Given the description of an element on the screen output the (x, y) to click on. 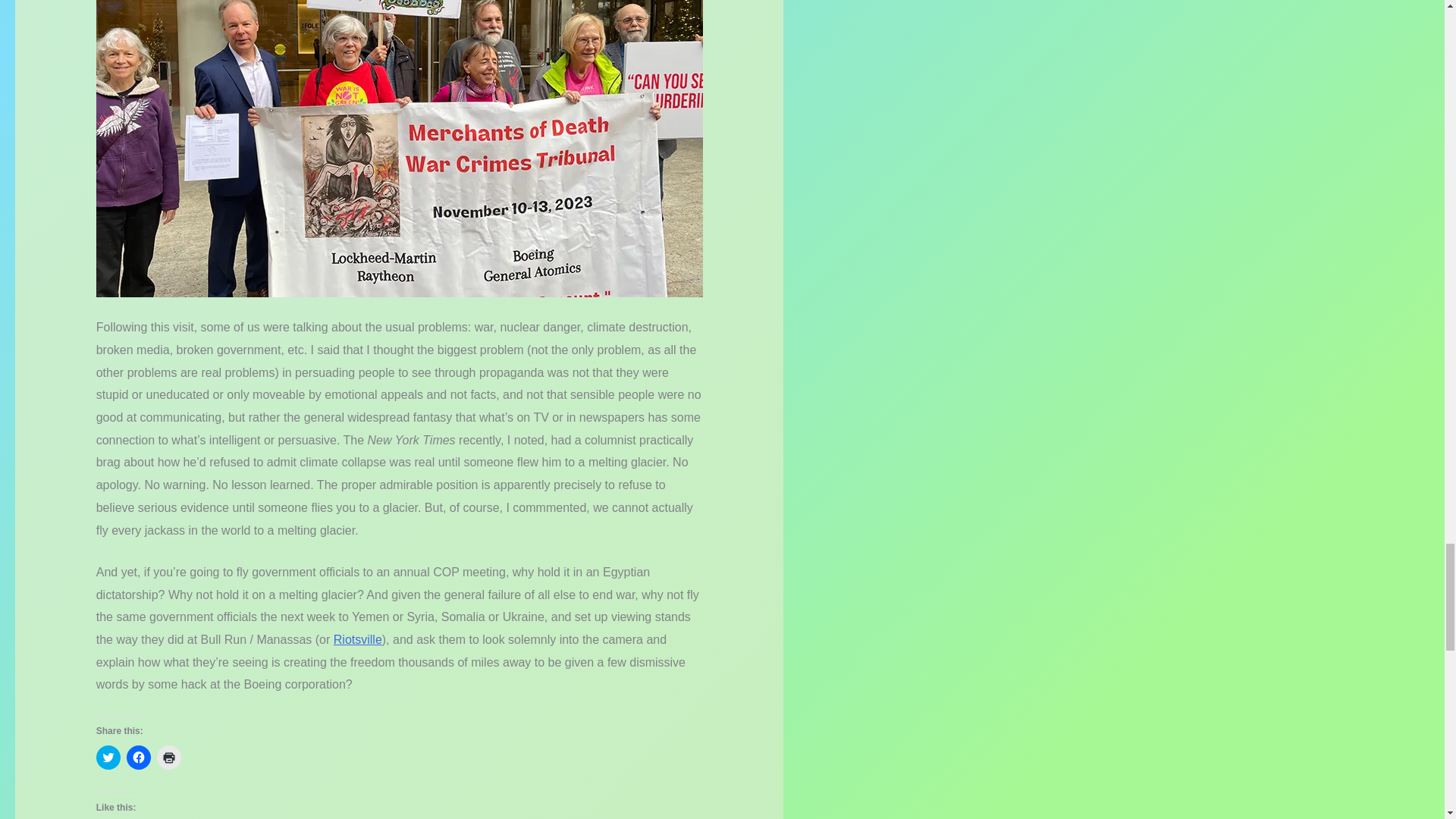
Riotsville (357, 639)
Click to share on Facebook (138, 757)
Click to print (168, 757)
Click to share on Twitter (108, 757)
